Given the description of an element on the screen output the (x, y) to click on. 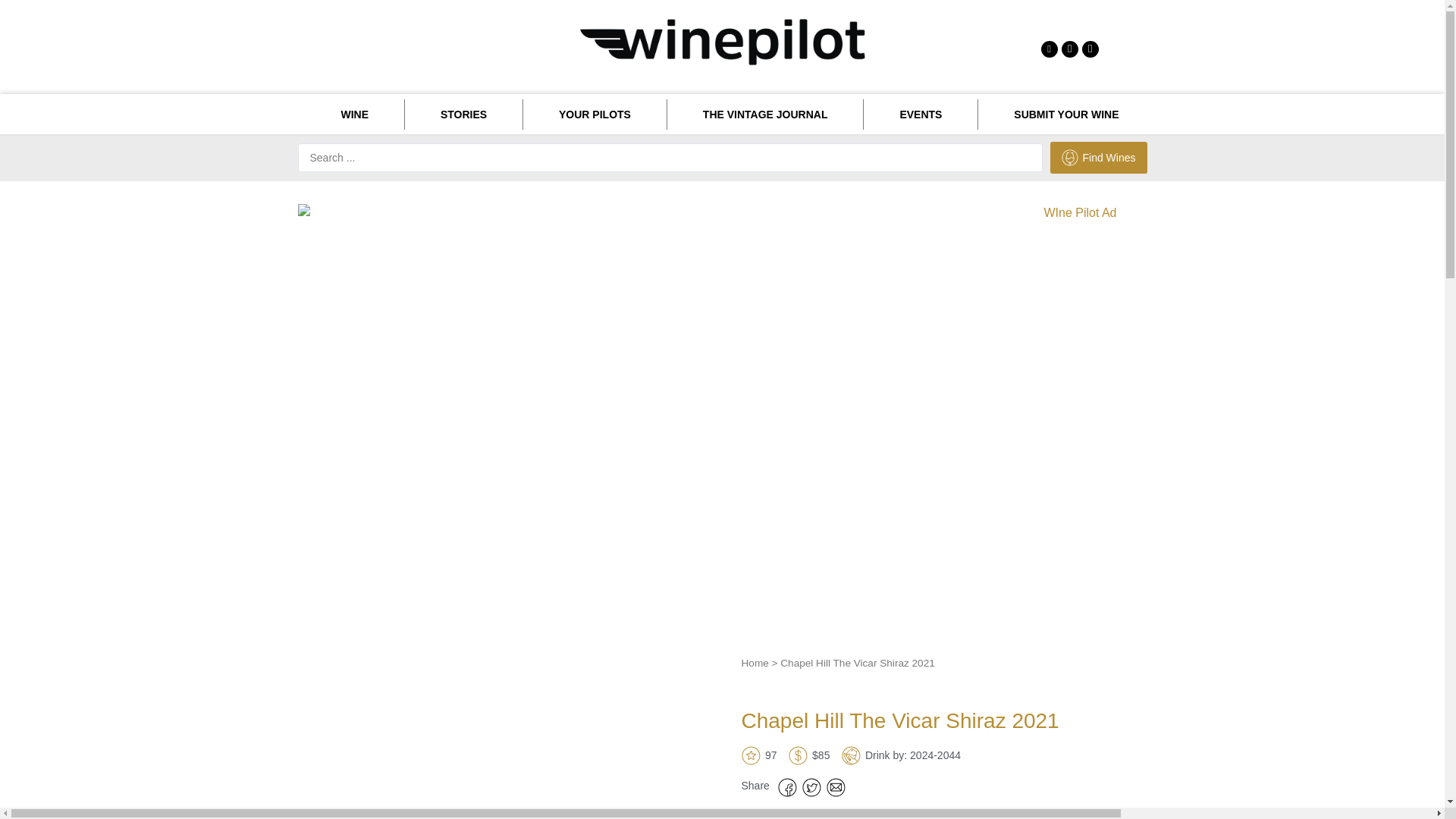
YOUR PILOTS (594, 114)
SUBMIT YOUR WINE (1066, 114)
EVENTS (919, 114)
WINE (353, 114)
STORIES (463, 114)
Home (754, 663)
Find Wines (1098, 157)
THE VINTAGE JOURNAL (764, 114)
